Given the description of an element on the screen output the (x, y) to click on. 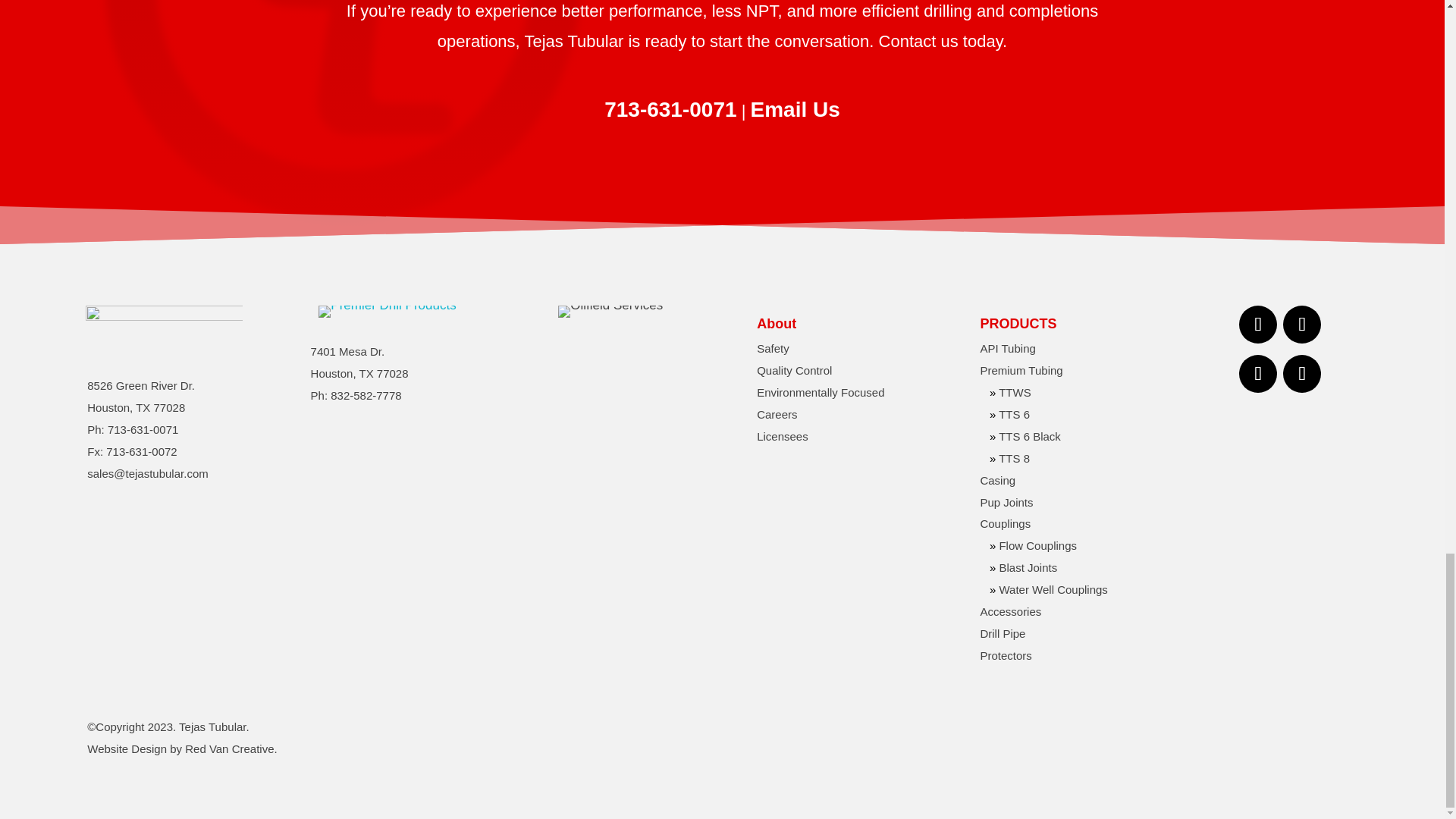
Follow on LinkedIn (1301, 324)
Tejas-Oilfield (609, 311)
Follow on Facebook (1257, 324)
Tejas-Tubular-Logo (163, 324)
Follow on X (1257, 373)
Follow on Youtube (1301, 373)
PremierLogo (386, 311)
